Given the description of an element on the screen output the (x, y) to click on. 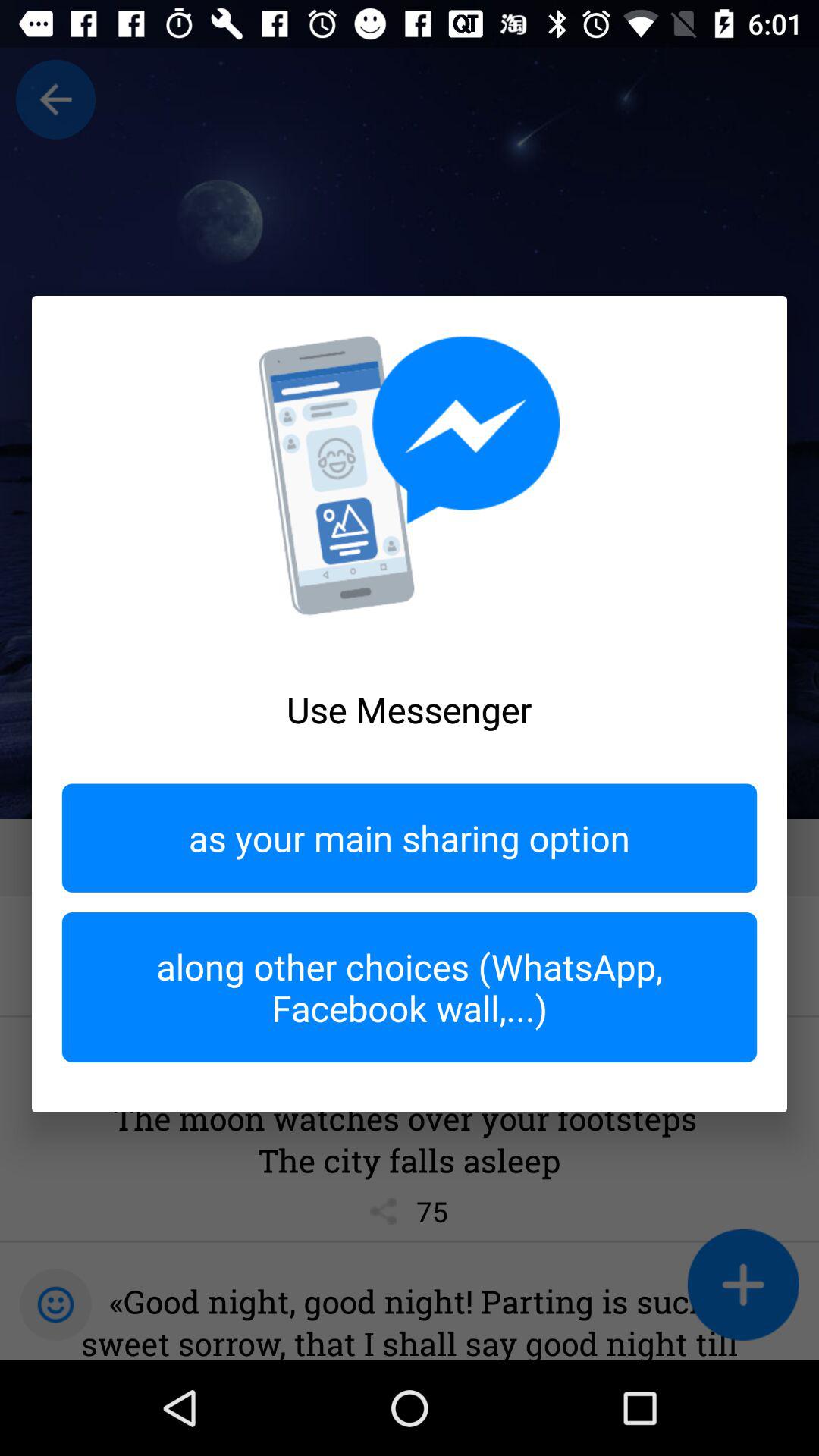
flip until as your main icon (409, 837)
